Given the description of an element on the screen output the (x, y) to click on. 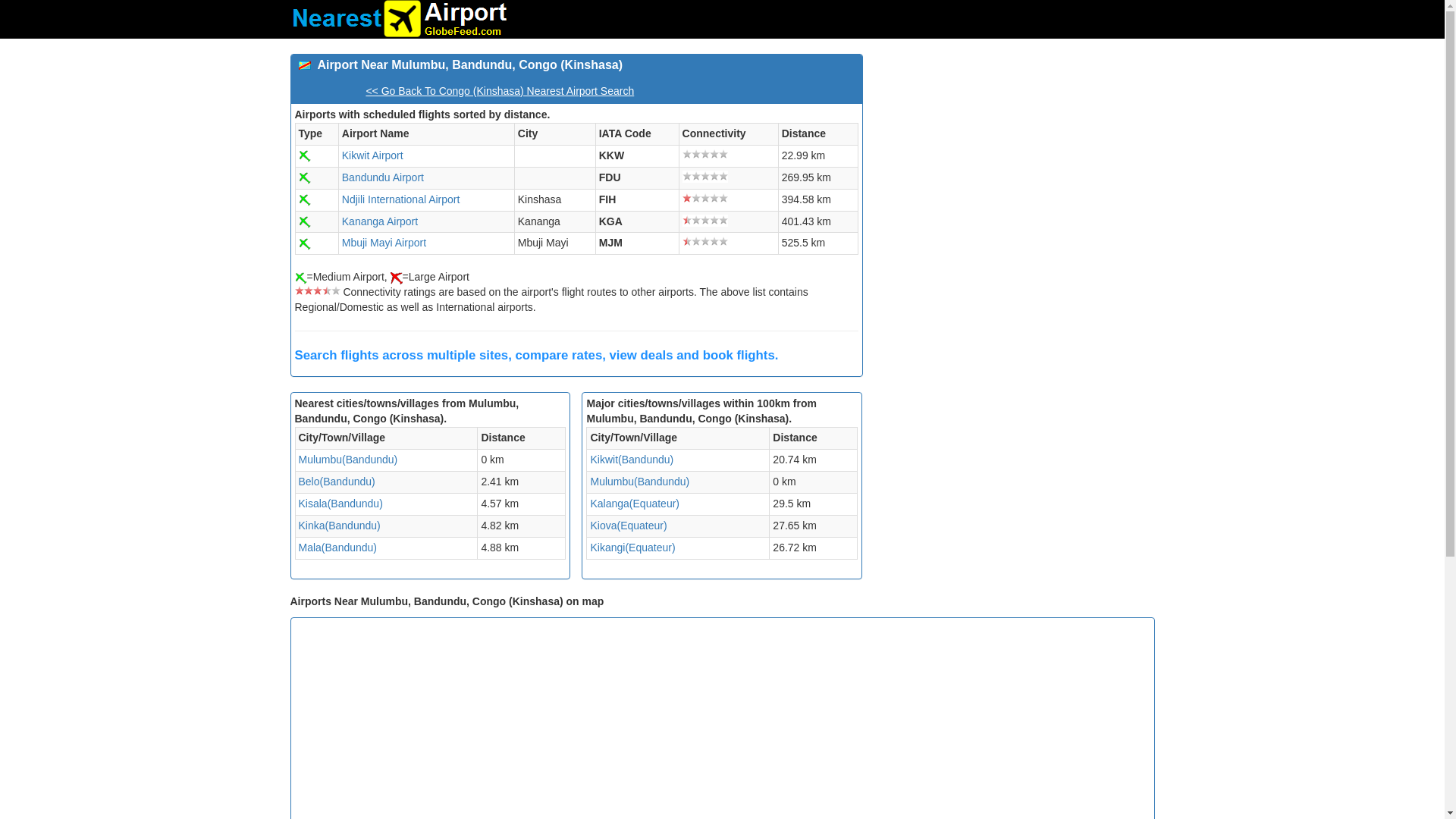
Kananga Airport (379, 221)
Bandundu Airport (382, 177)
Ndjili International Airport (401, 199)
Kikwit Airport (372, 155)
Advertisement (1013, 160)
Mbuji Mayi Airport (384, 242)
Search Nearest Airport (398, 18)
